Given the description of an element on the screen output the (x, y) to click on. 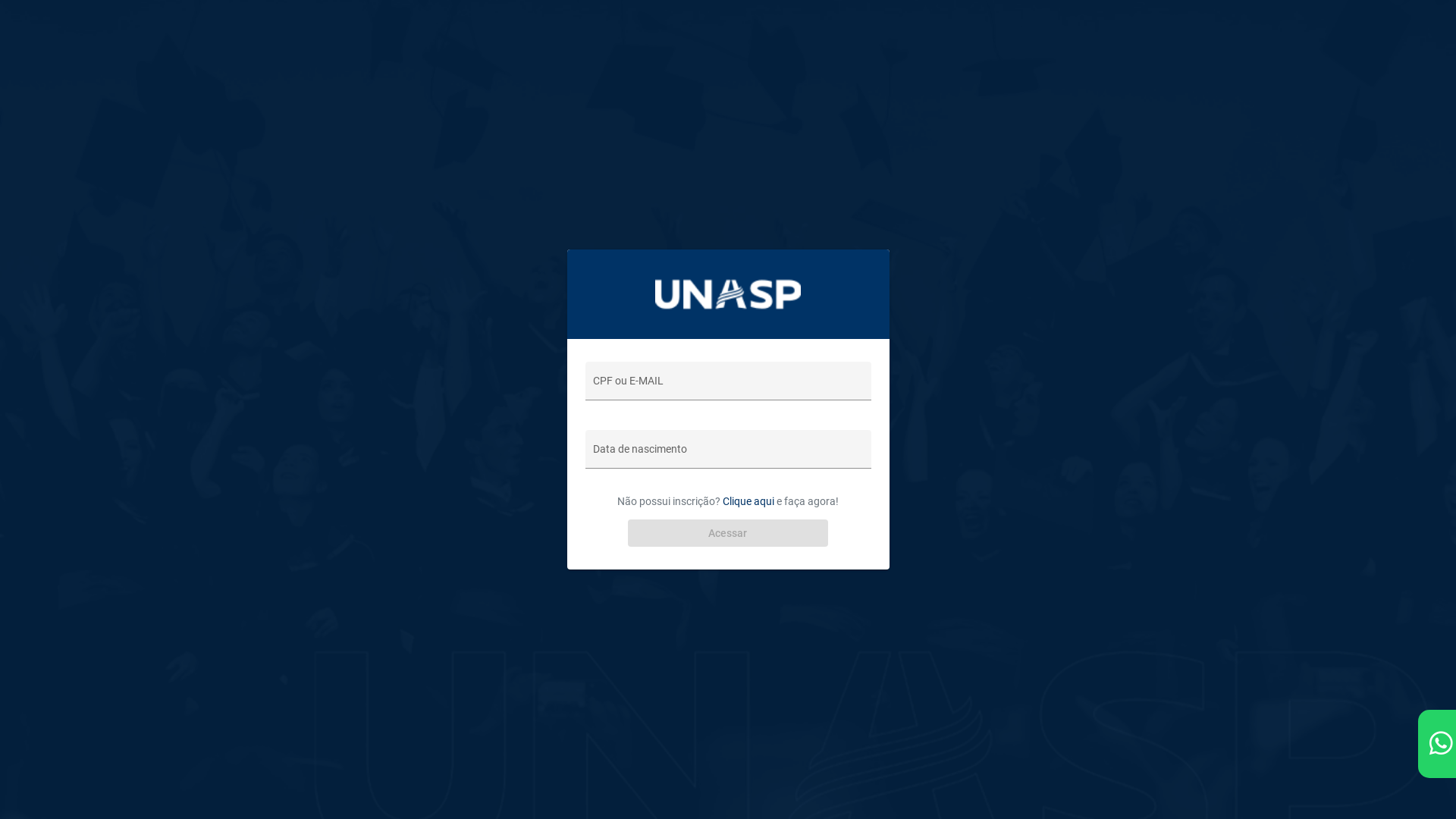
Clique aqui Element type: text (748, 501)
Acessar Element type: text (727, 532)
